Given the description of an element on the screen output the (x, y) to click on. 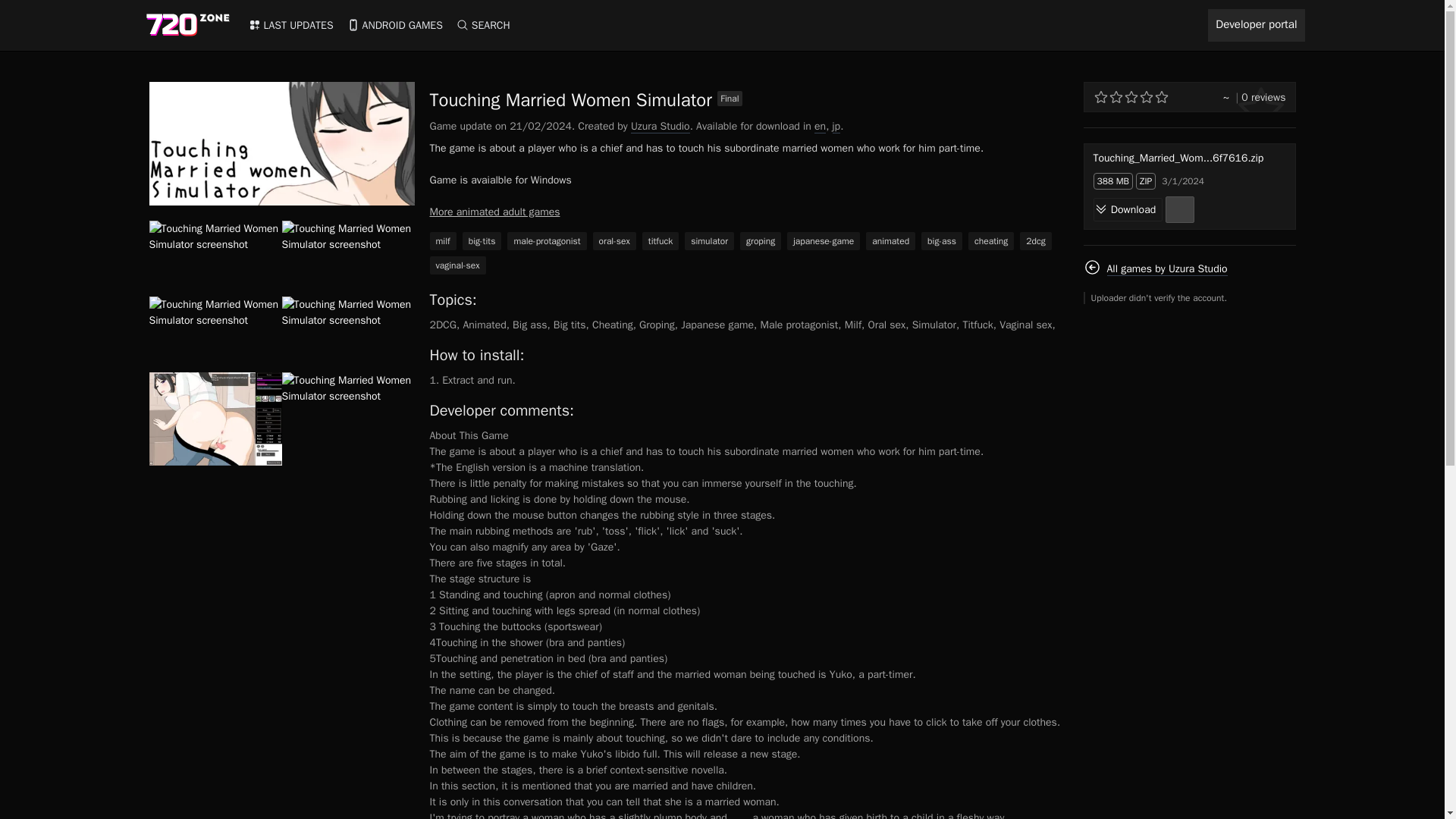
japanese-game (823, 240)
Download (1128, 208)
All games by Uzura Studio (1155, 268)
Touching Married Women Simulator screenshot (214, 334)
Download from mega.nz (1179, 208)
titfuck (660, 240)
Uzura Studio (660, 126)
Download from undefined (1128, 208)
Developer portal (1256, 25)
male-protagonist (546, 240)
groping (759, 240)
LAST UPDATES (290, 25)
SEARCH (483, 25)
big-tits (482, 240)
